Given the description of an element on the screen output the (x, y) to click on. 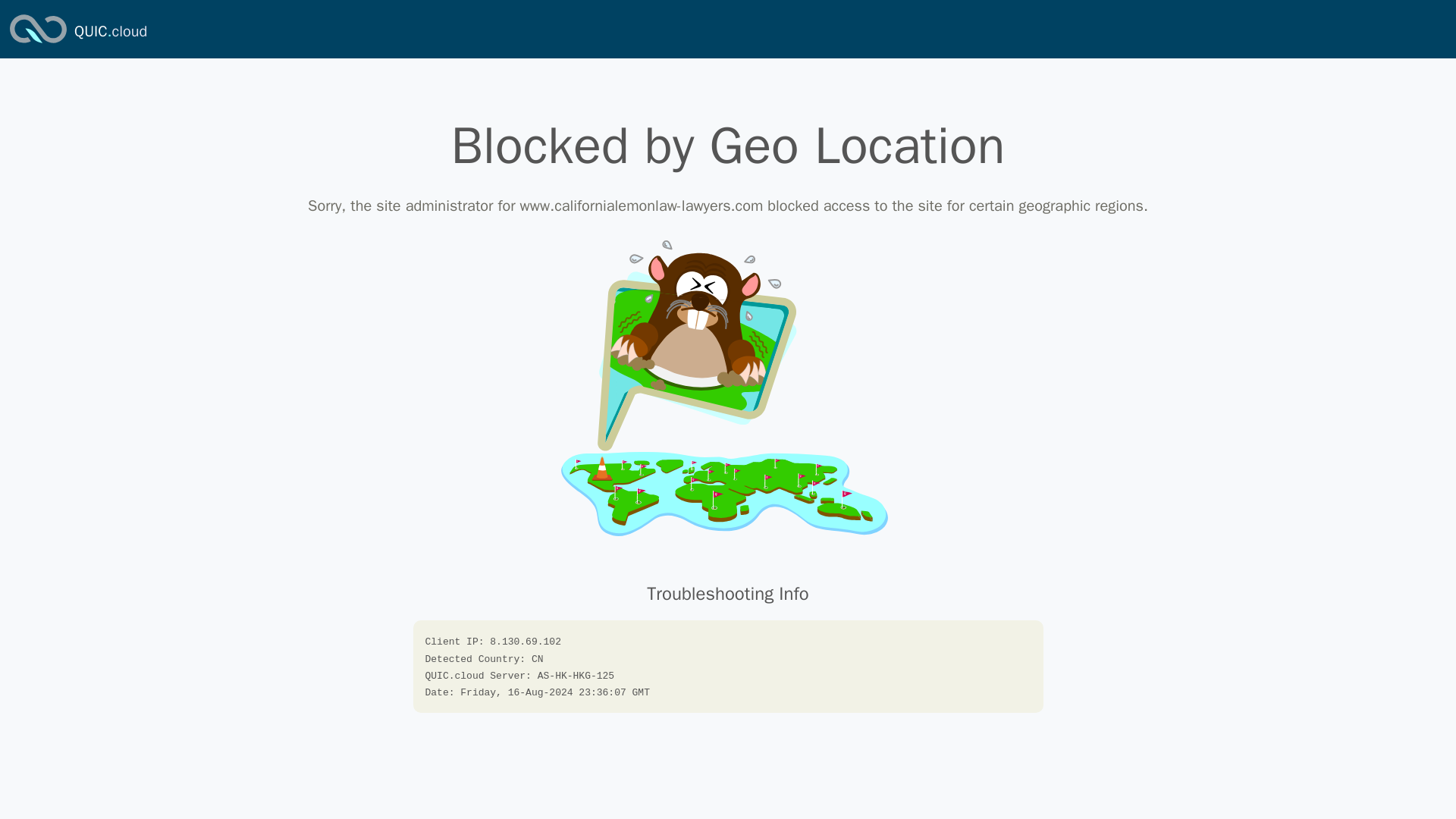
QUIC.cloud (110, 31)
QUIC.cloud (110, 31)
QUIC.cloud (37, 43)
